Given the description of an element on the screen output the (x, y) to click on. 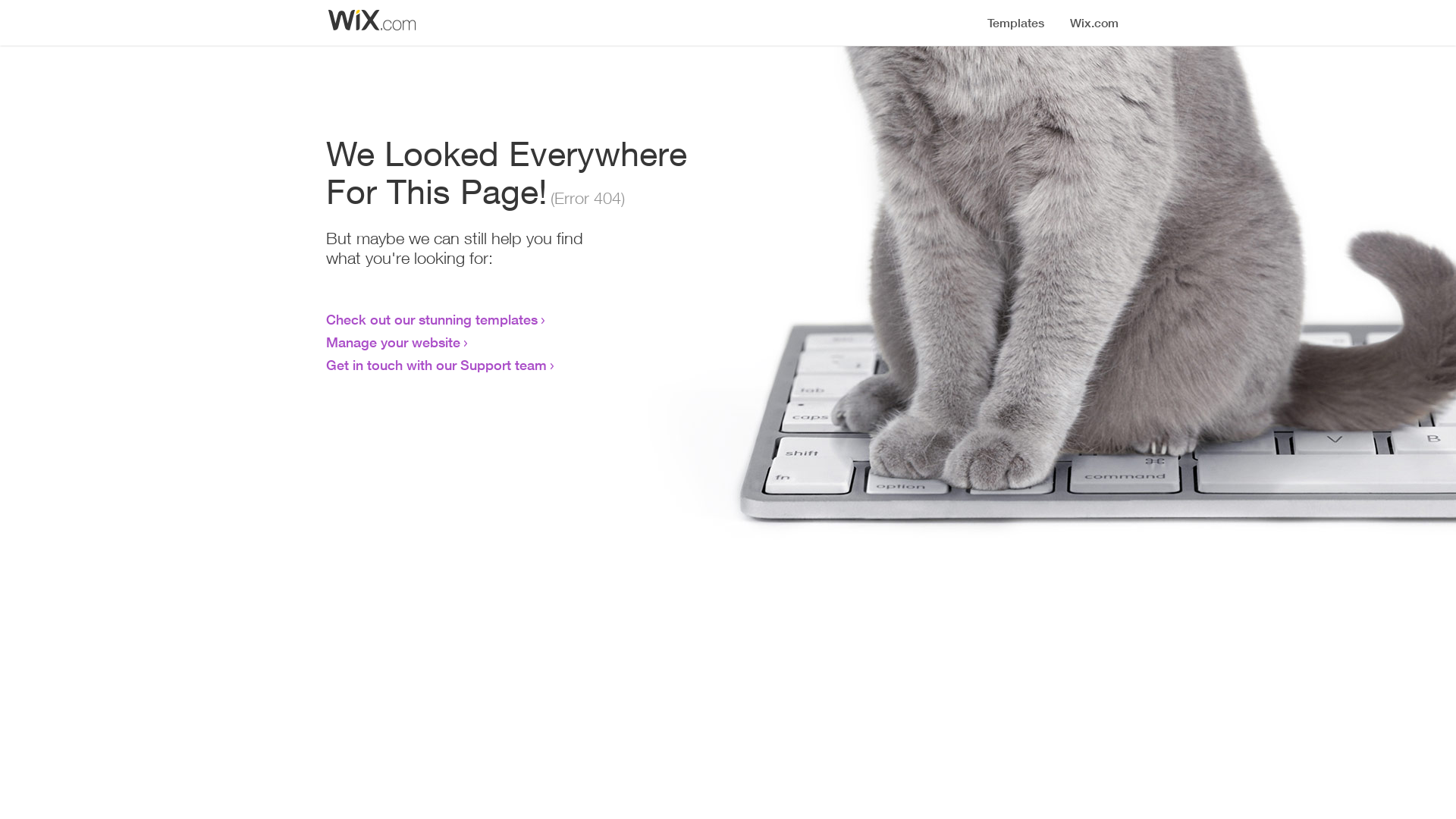
Check out our stunning templates Element type: text (431, 318)
Manage your website Element type: text (393, 341)
Get in touch with our Support team Element type: text (436, 364)
